Given the description of an element on the screen output the (x, y) to click on. 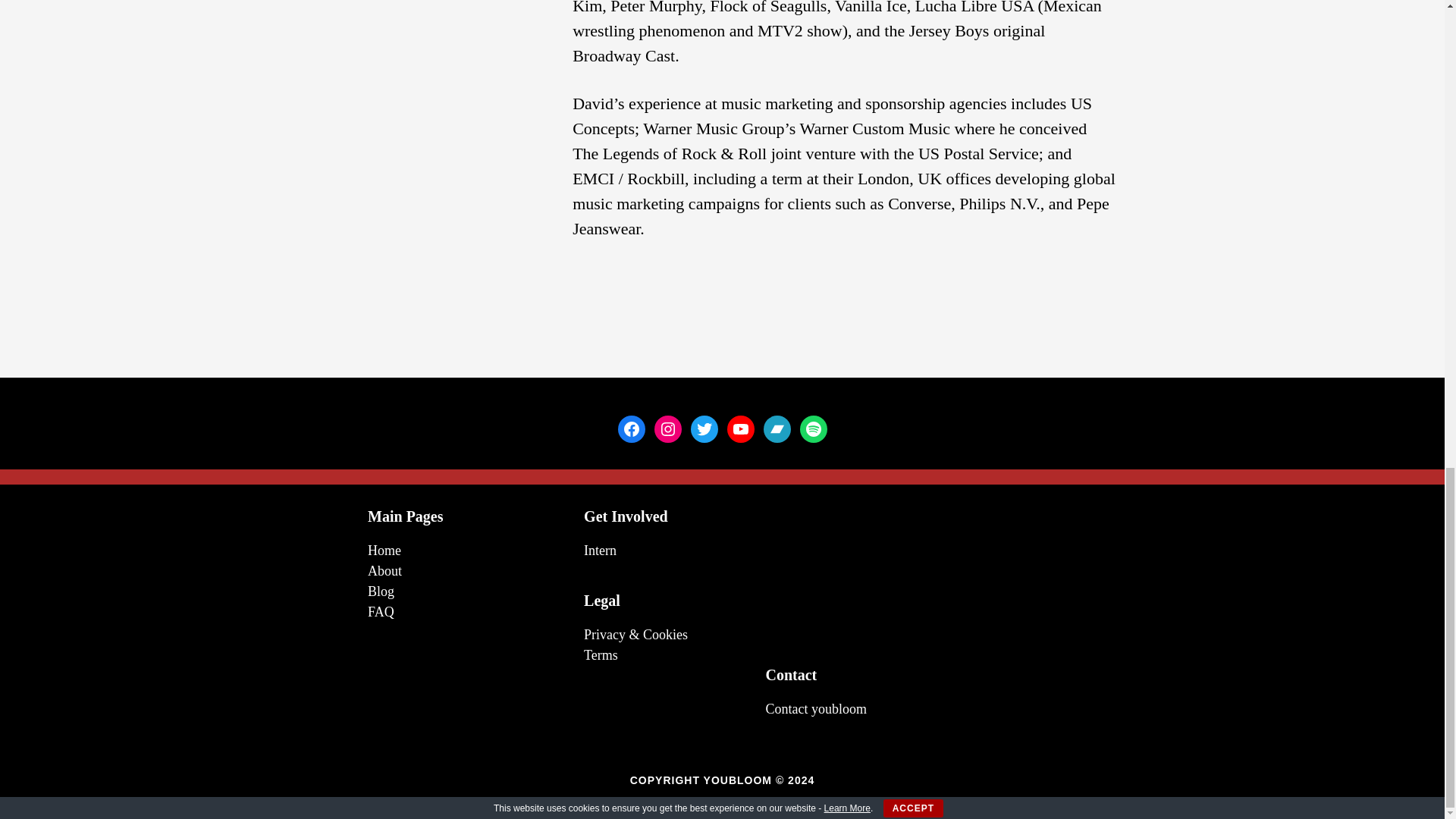
About (384, 570)
Terms (600, 654)
Contact youbloom (816, 708)
Intern (599, 549)
Blog (381, 590)
Home (384, 549)
FAQ (381, 611)
